Given the description of an element on the screen output the (x, y) to click on. 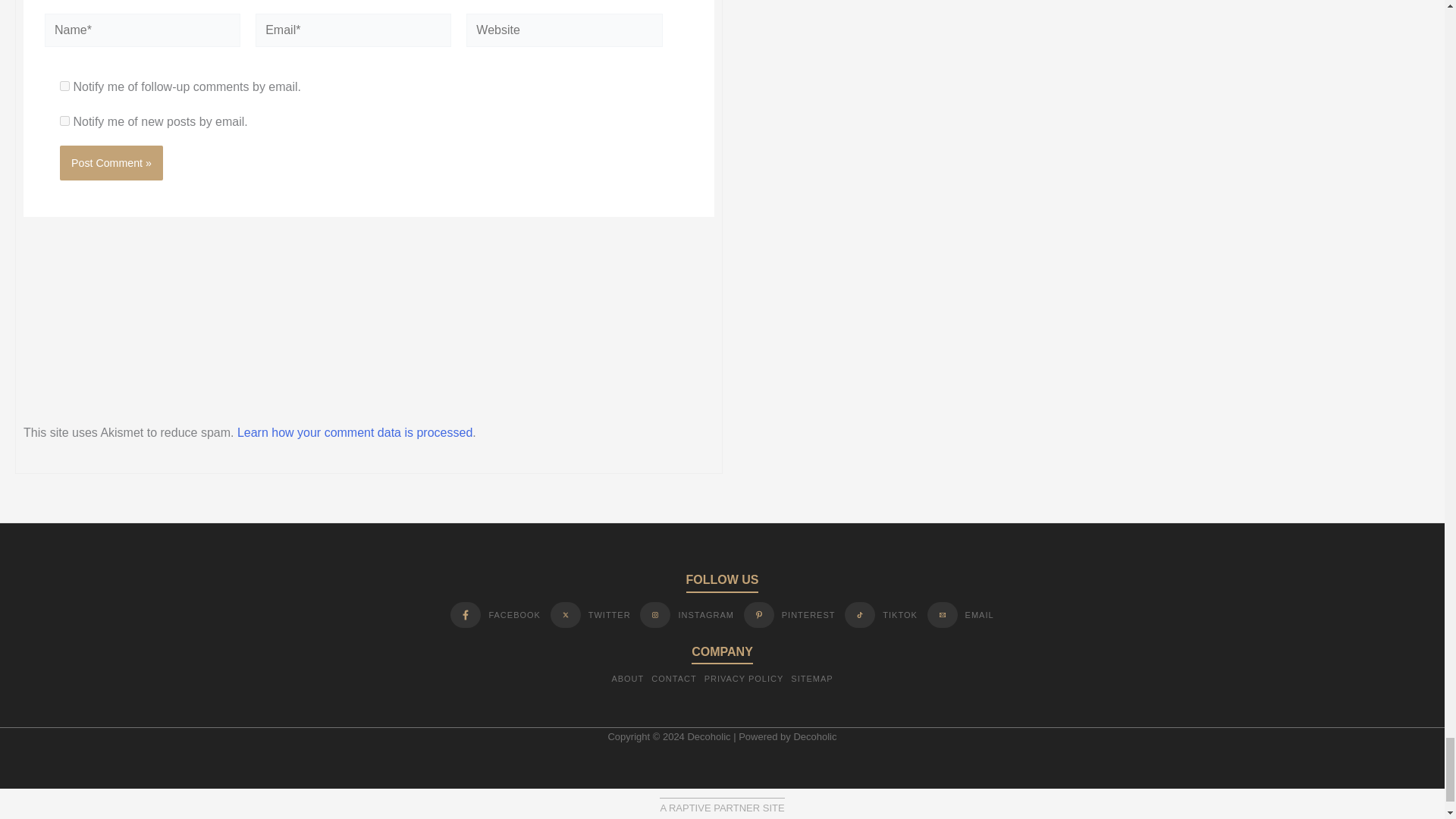
subscribe (64, 121)
subscribe (64, 85)
